Given the description of an element on the screen output the (x, y) to click on. 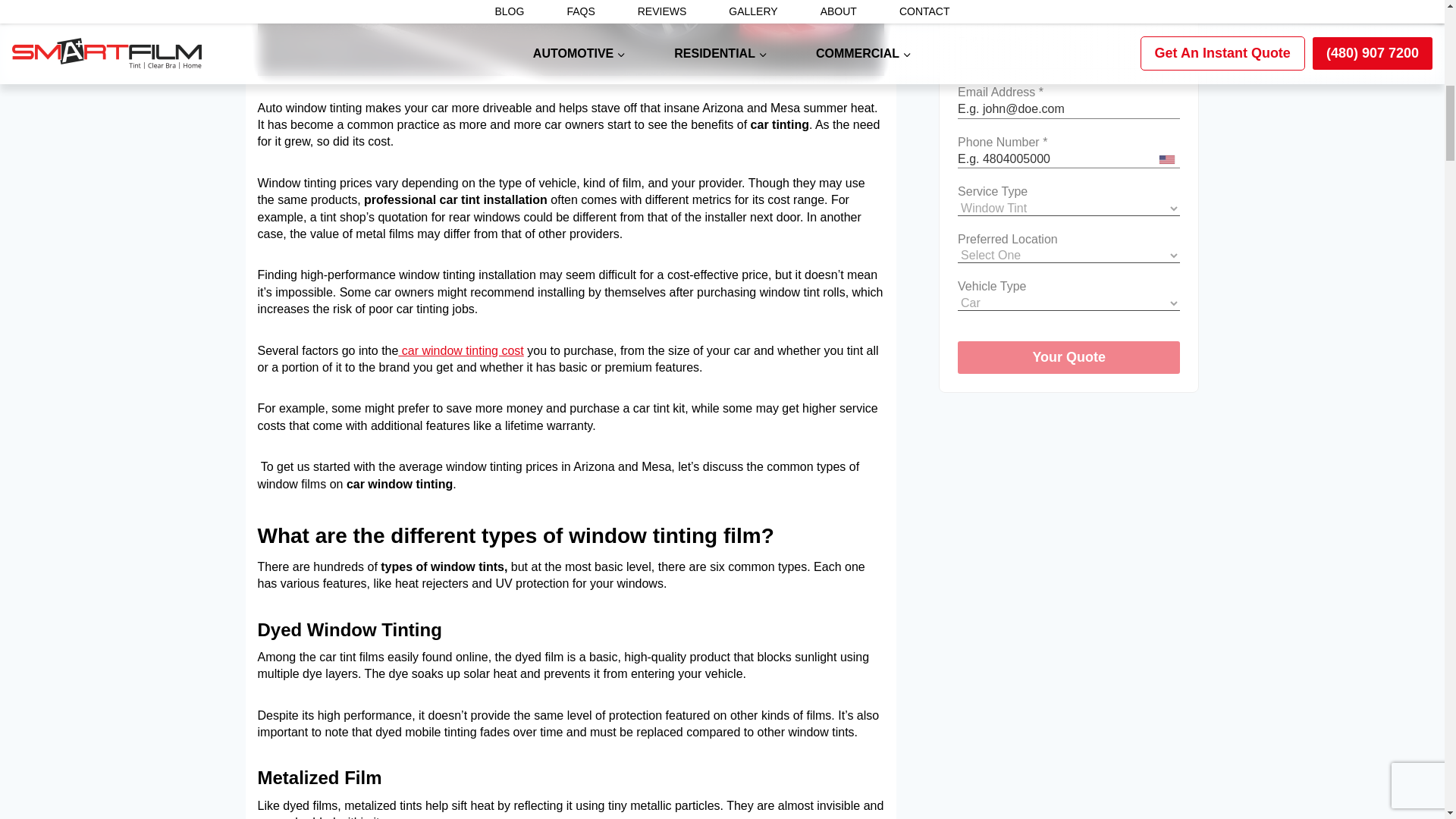
car window tinting cost (459, 350)
